Given the description of an element on the screen output the (x, y) to click on. 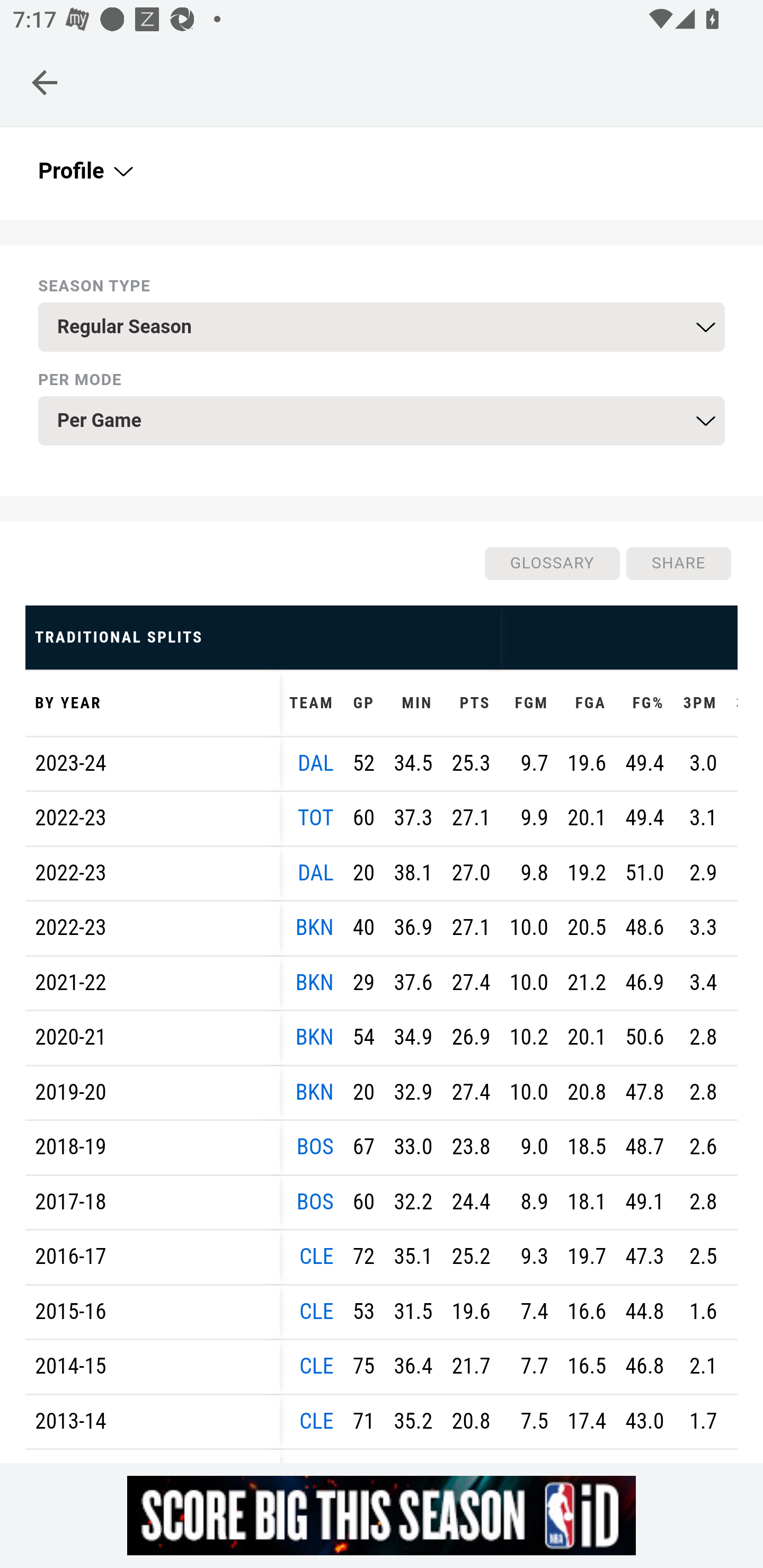
Navigate up (44, 82)
Profile (84, 172)
Regular Season (381, 329)
Per Game (381, 422)
GLOSSARY (550, 564)
SHARE (677, 564)
BY YEAR (152, 704)
TEAM (311, 704)
GP (362, 704)
MIN (413, 704)
PTS (470, 704)
FGM (528, 704)
FGA (586, 704)
FG% (643, 704)
3PM (699, 704)
DAL (315, 765)
TOT (315, 819)
DAL (315, 874)
BKN (313, 929)
BKN (313, 983)
BKN (313, 1039)
BKN (313, 1093)
BOS (315, 1149)
BOS (315, 1203)
CLE (316, 1258)
CLE (316, 1312)
CLE (316, 1368)
CLE (316, 1422)
g5nqqygr7owph (381, 1515)
